Given the description of an element on the screen output the (x, y) to click on. 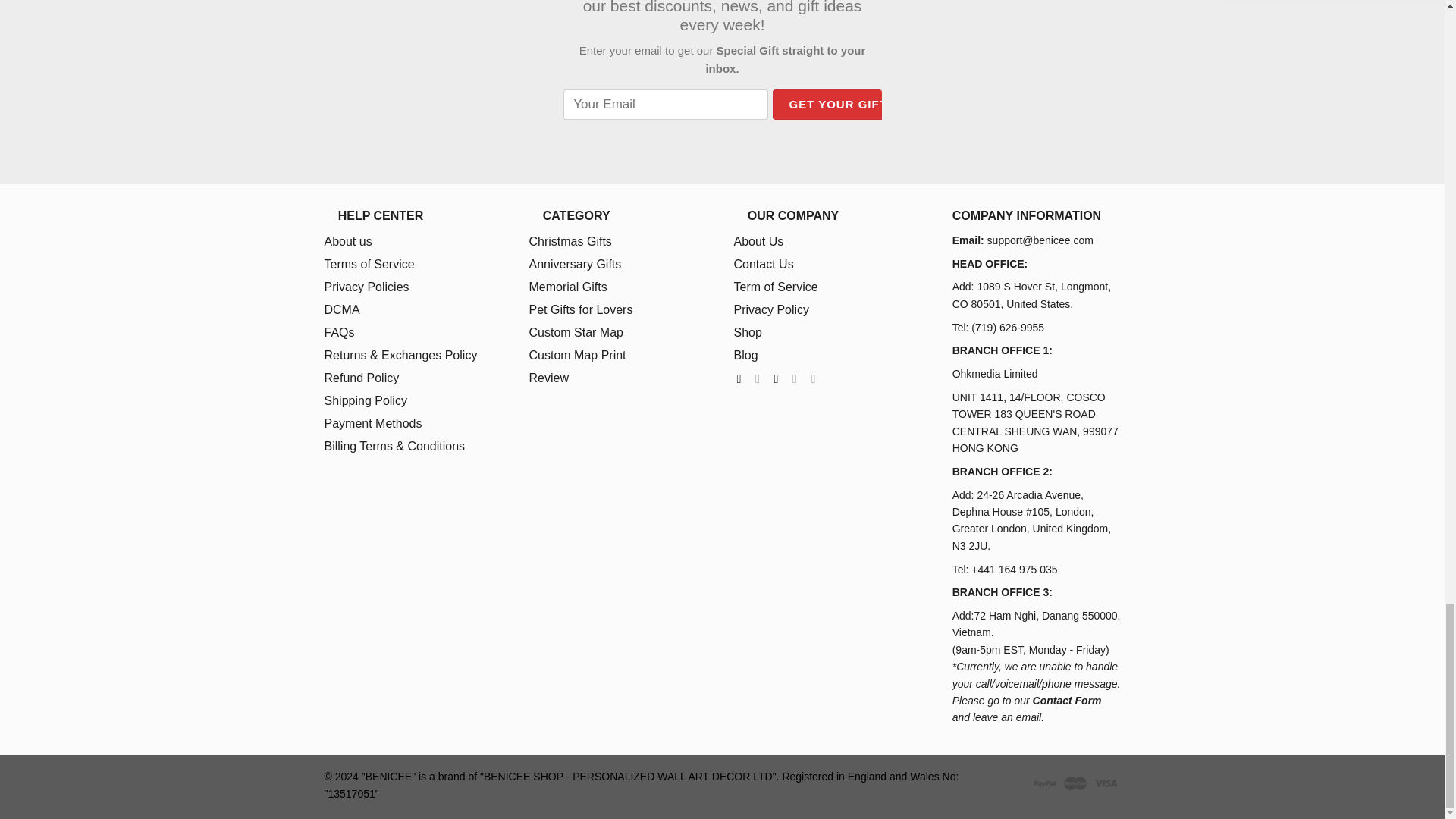
Get Your Gift (837, 104)
